Given the description of an element on the screen output the (x, y) to click on. 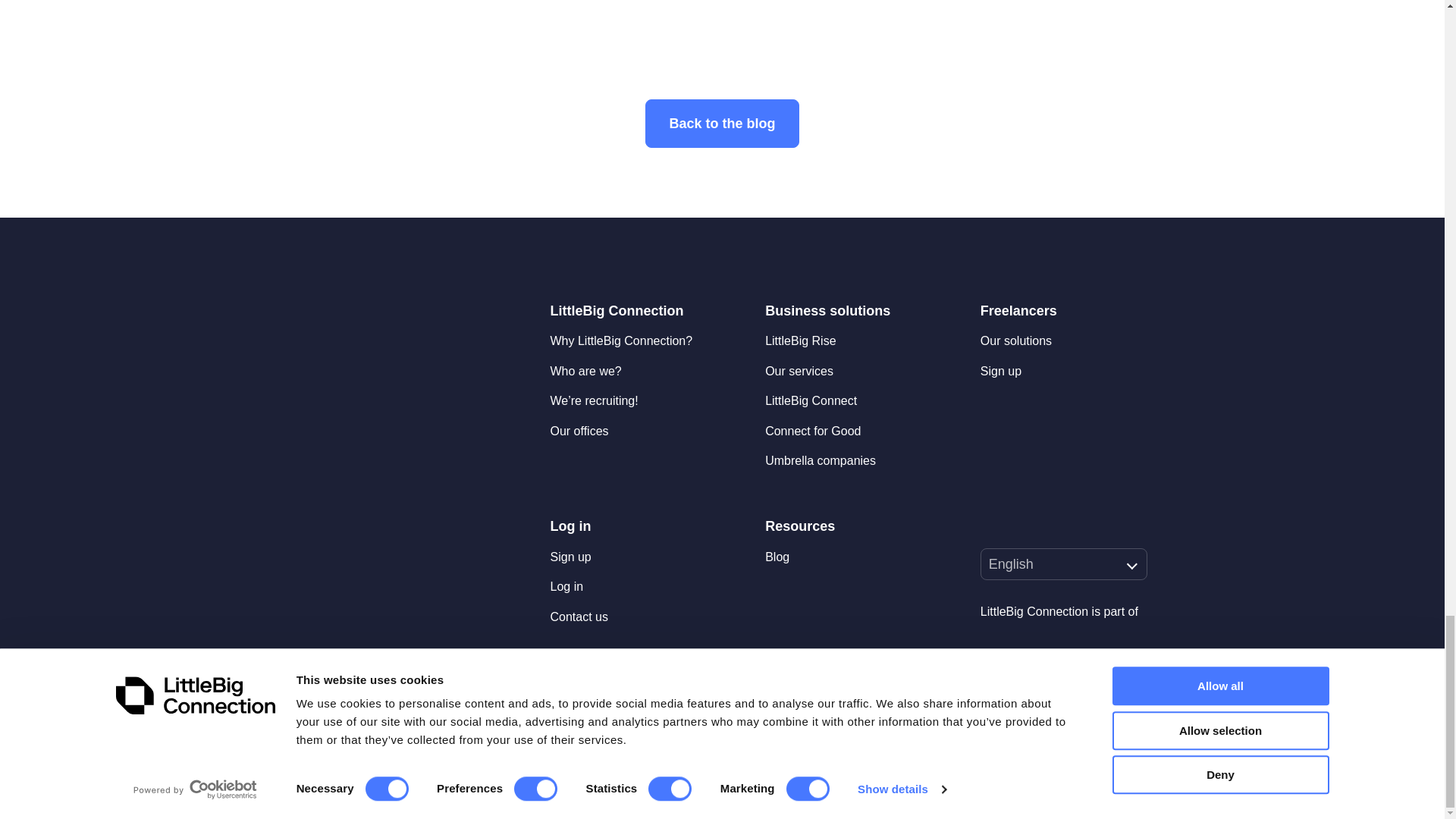
LittleBig Twitter (1055, 526)
LittleBig Linkedin (988, 526)
Mantu (1078, 676)
LittleBig Facebook (1022, 526)
